Given the description of an element on the screen output the (x, y) to click on. 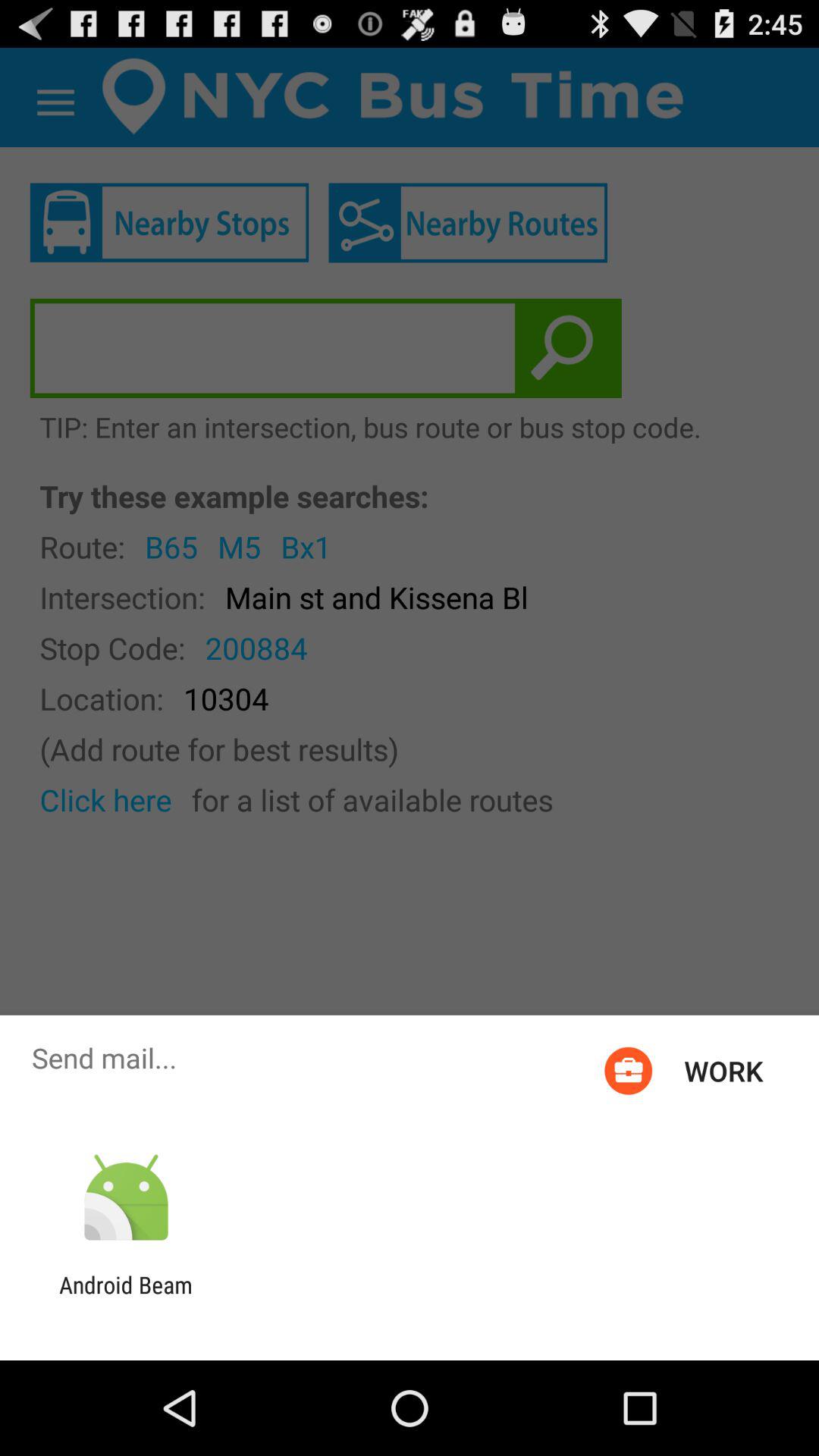
turn off android beam icon (125, 1298)
